Given the description of an element on the screen output the (x, y) to click on. 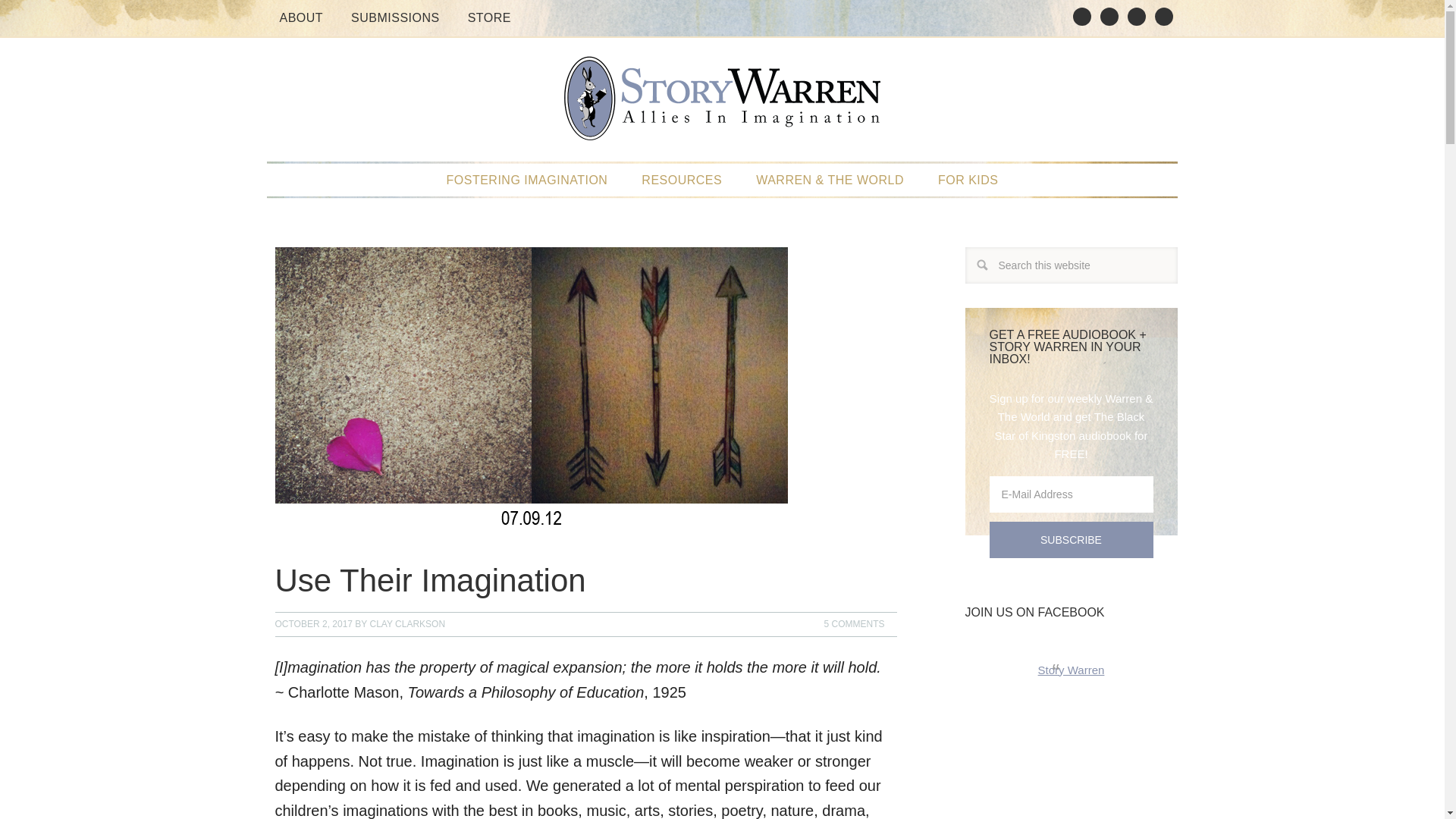
SUBMISSIONS (395, 18)
5 COMMENTS (853, 623)
ABOUT (300, 18)
Subscribe (1070, 539)
STORY WARREN (722, 105)
FOSTERING IMAGINATION (526, 179)
FOR KIDS (968, 179)
STORE (488, 18)
RESOURCES (681, 179)
CLAY CLARKSON (407, 624)
